Given the description of an element on the screen output the (x, y) to click on. 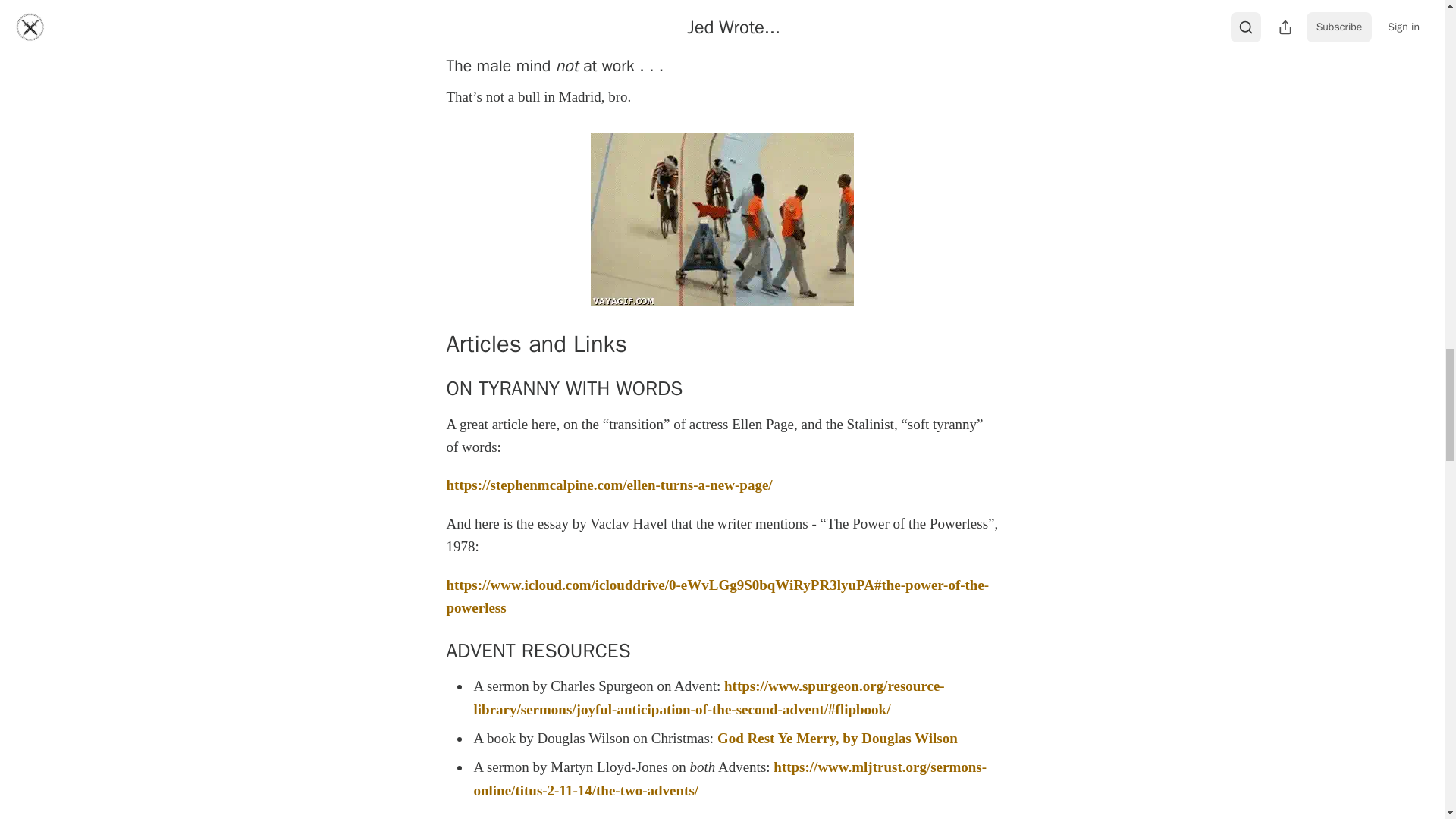
God Rest Ye Merry, by Douglas Wilson (837, 738)
